Given the description of an element on the screen output the (x, y) to click on. 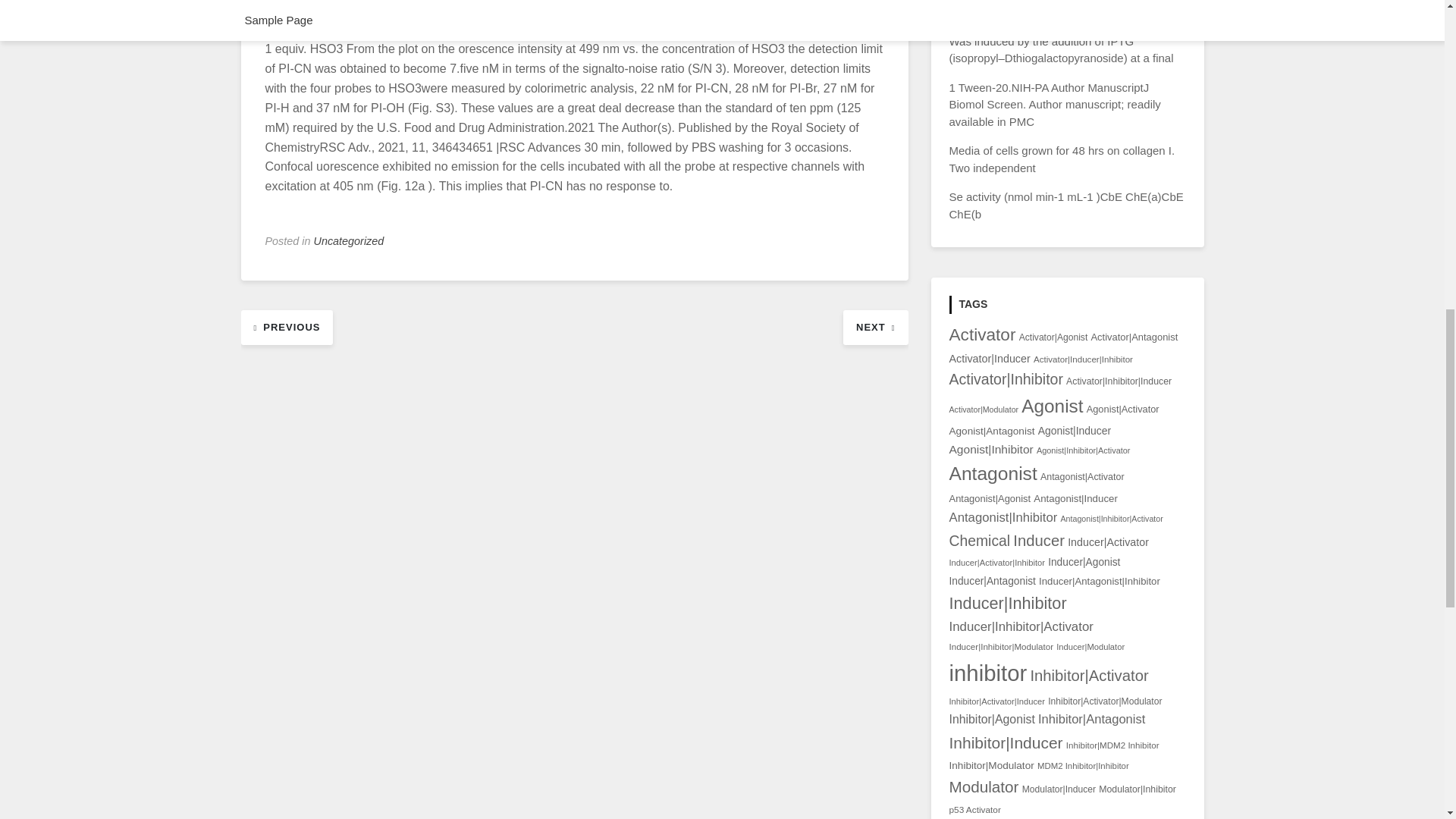
Uncategorized (349, 241)
Agonist (1052, 405)
NEXT (875, 326)
PREVIOUS (287, 326)
Activator (982, 334)
